Given the description of an element on the screen output the (x, y) to click on. 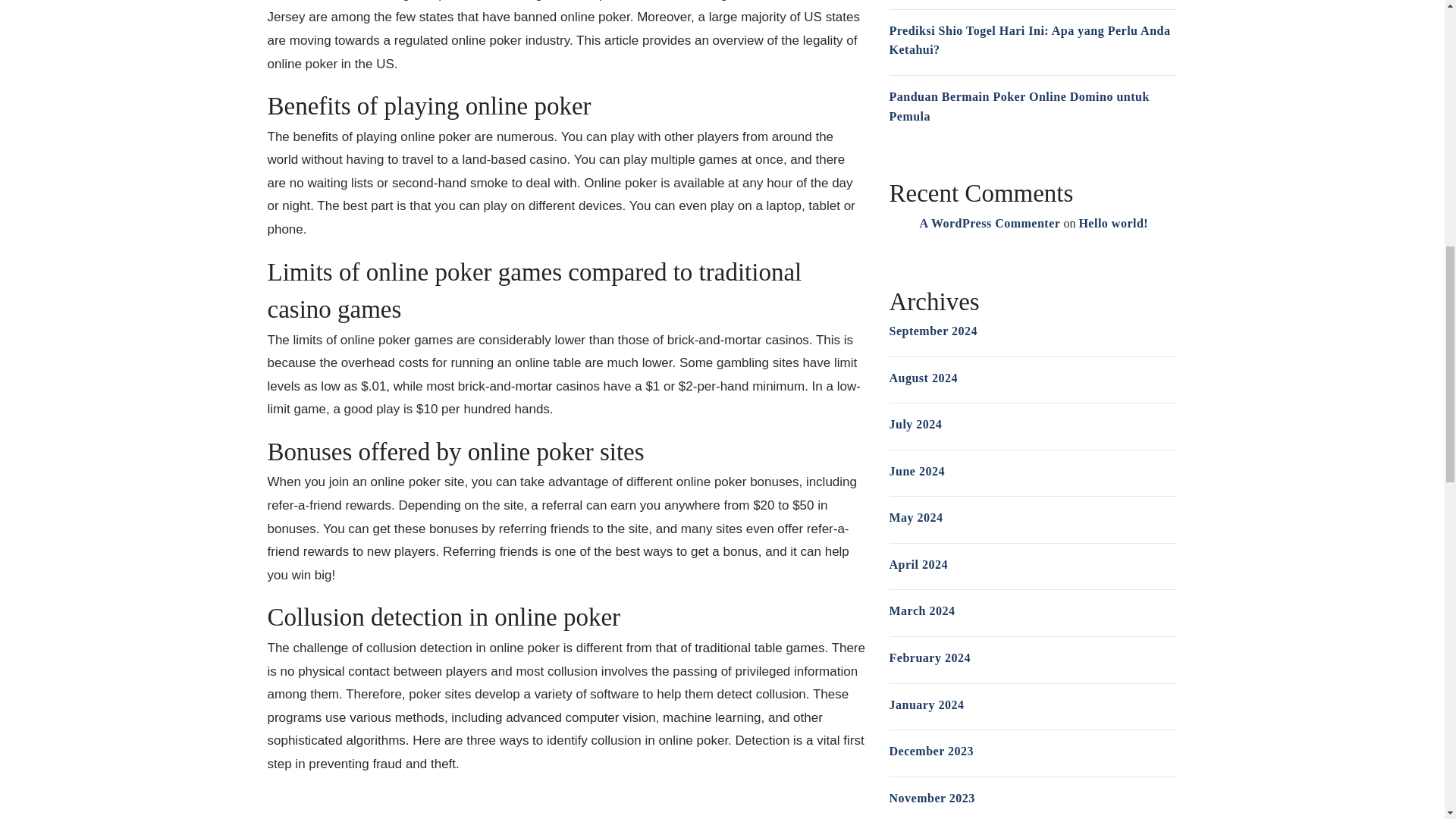
Prediksi Shio Togel Hari Ini: Apa yang Perlu Anda Ketahui? (1029, 40)
April 2024 (917, 563)
February 2024 (928, 657)
A WordPress Commenter (988, 223)
June 2024 (915, 471)
January 2024 (925, 704)
Panduan Bermain Poker Online Domino untuk Pemula (1018, 106)
December 2023 (931, 750)
Hello world! (1113, 223)
May 2024 (915, 517)
